Given the description of an element on the screen output the (x, y) to click on. 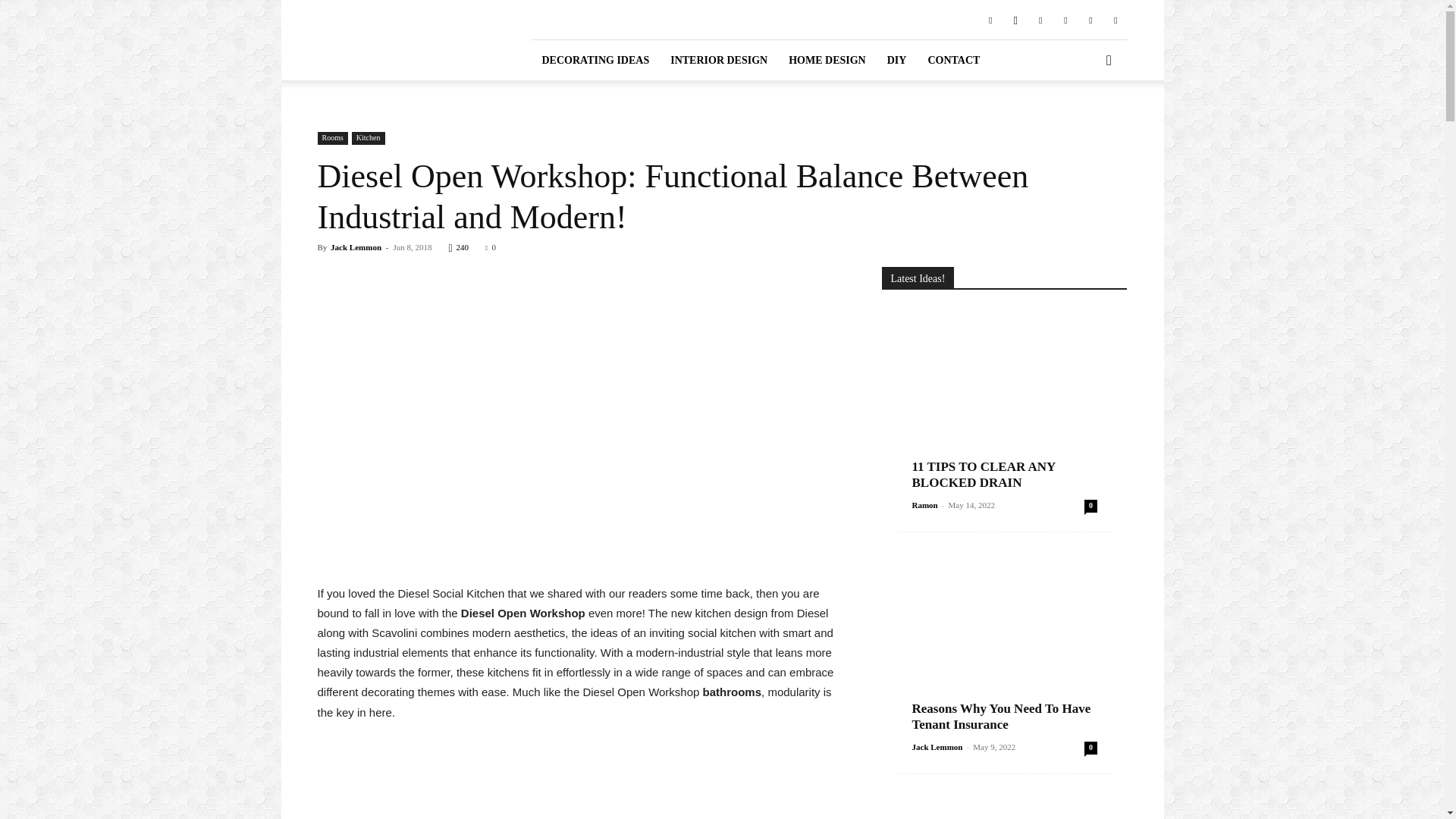
RSS (1065, 19)
HOME DESIGN (826, 60)
CONTACT (953, 60)
Rooms (332, 137)
Instagram (1015, 19)
DECORATING IDEAS (595, 60)
DIY (896, 60)
WordPress (1114, 19)
Jack Lemmon (355, 246)
Kitchen (368, 137)
